Given the description of an element on the screen output the (x, y) to click on. 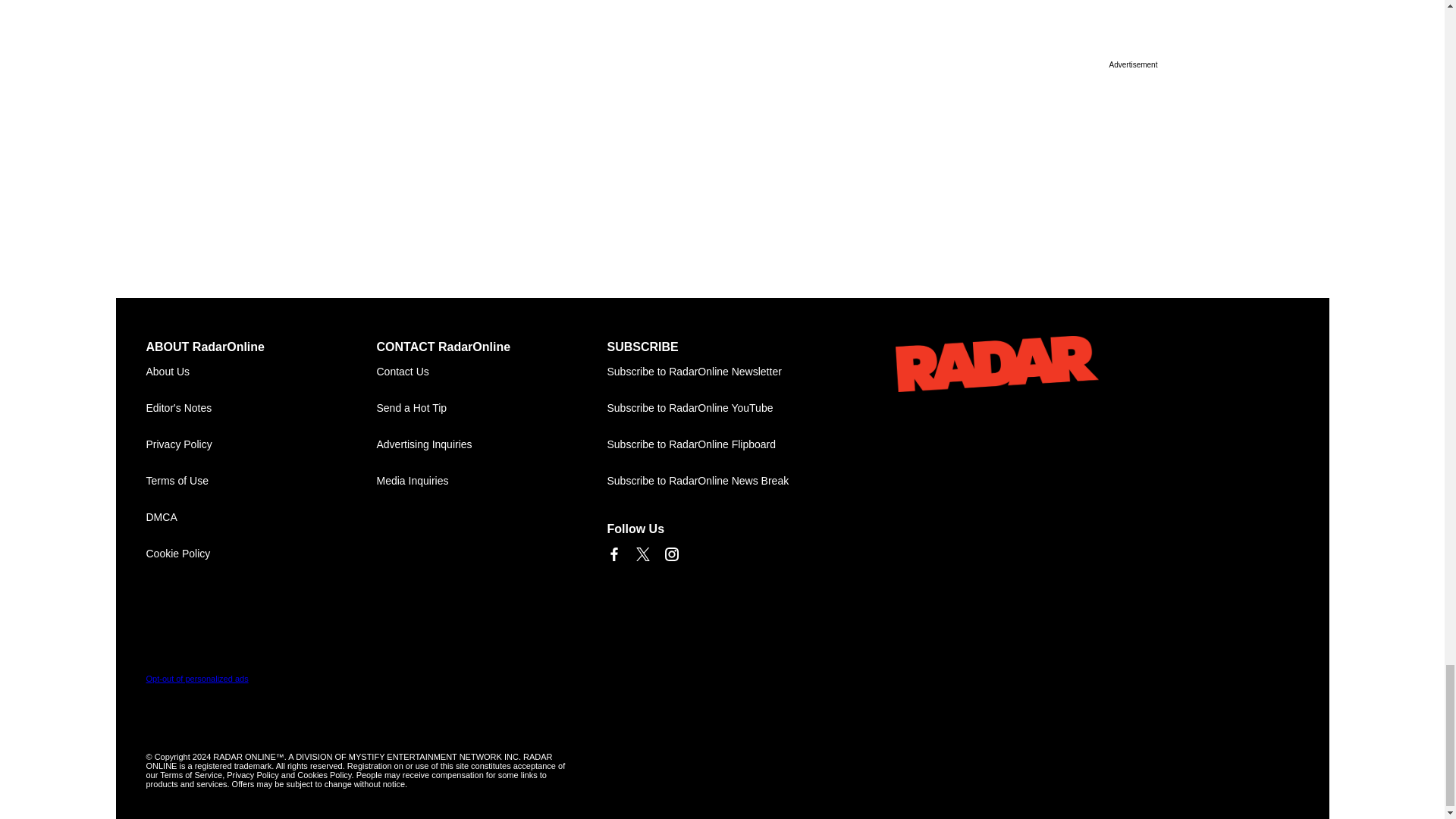
Cookie Policy (260, 554)
Editor's Notes (260, 408)
Link to Facebook (613, 554)
Media Inquiries (491, 481)
Link to X (641, 554)
Privacy Policy (260, 444)
Link to Instagram (670, 554)
Subscribe (722, 371)
Terms of Use (260, 481)
Subscribe to RadarOnline Newsletter (722, 371)
